Given the description of an element on the screen output the (x, y) to click on. 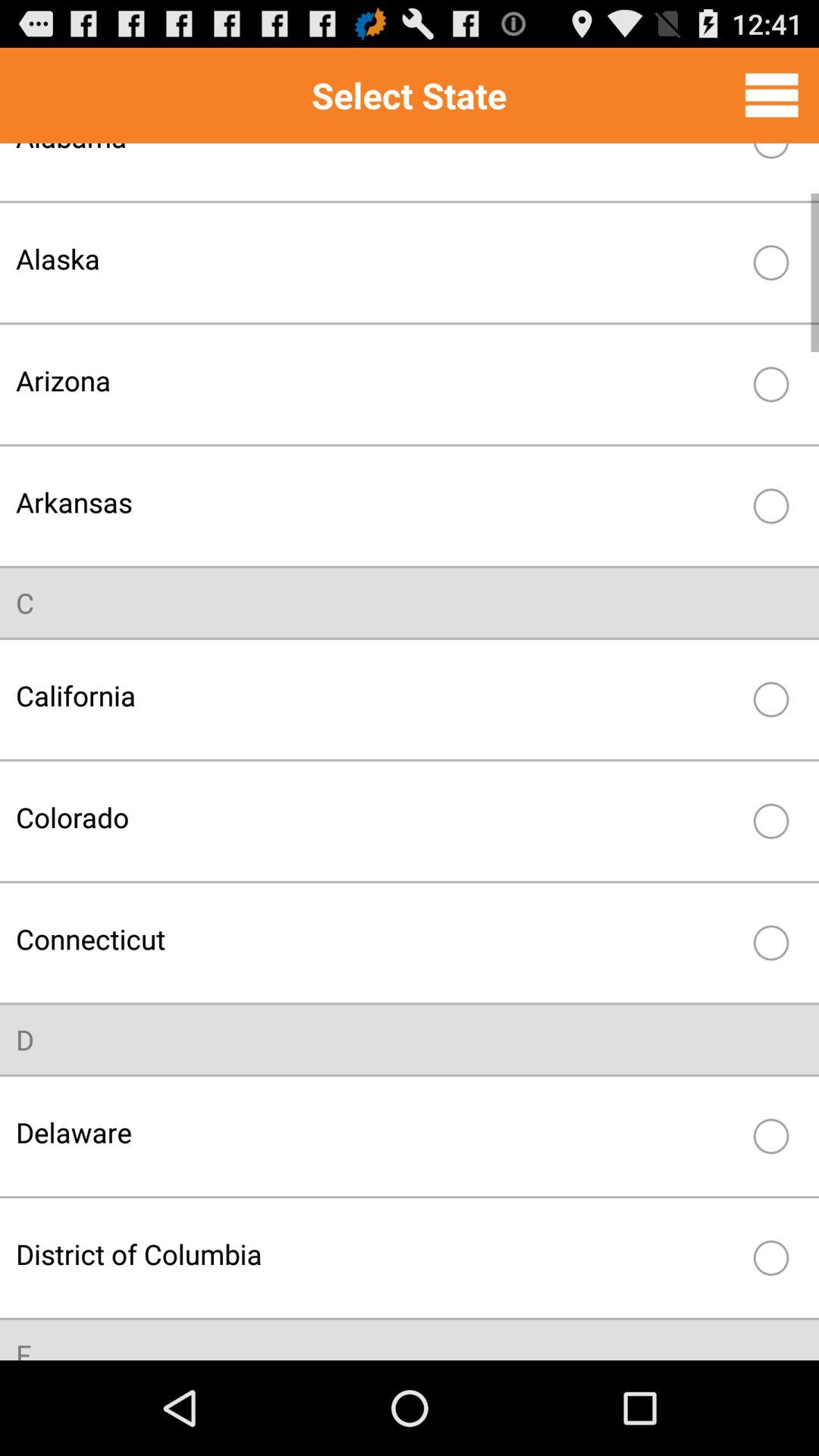
tap f (23, 1347)
